Given the description of an element on the screen output the (x, y) to click on. 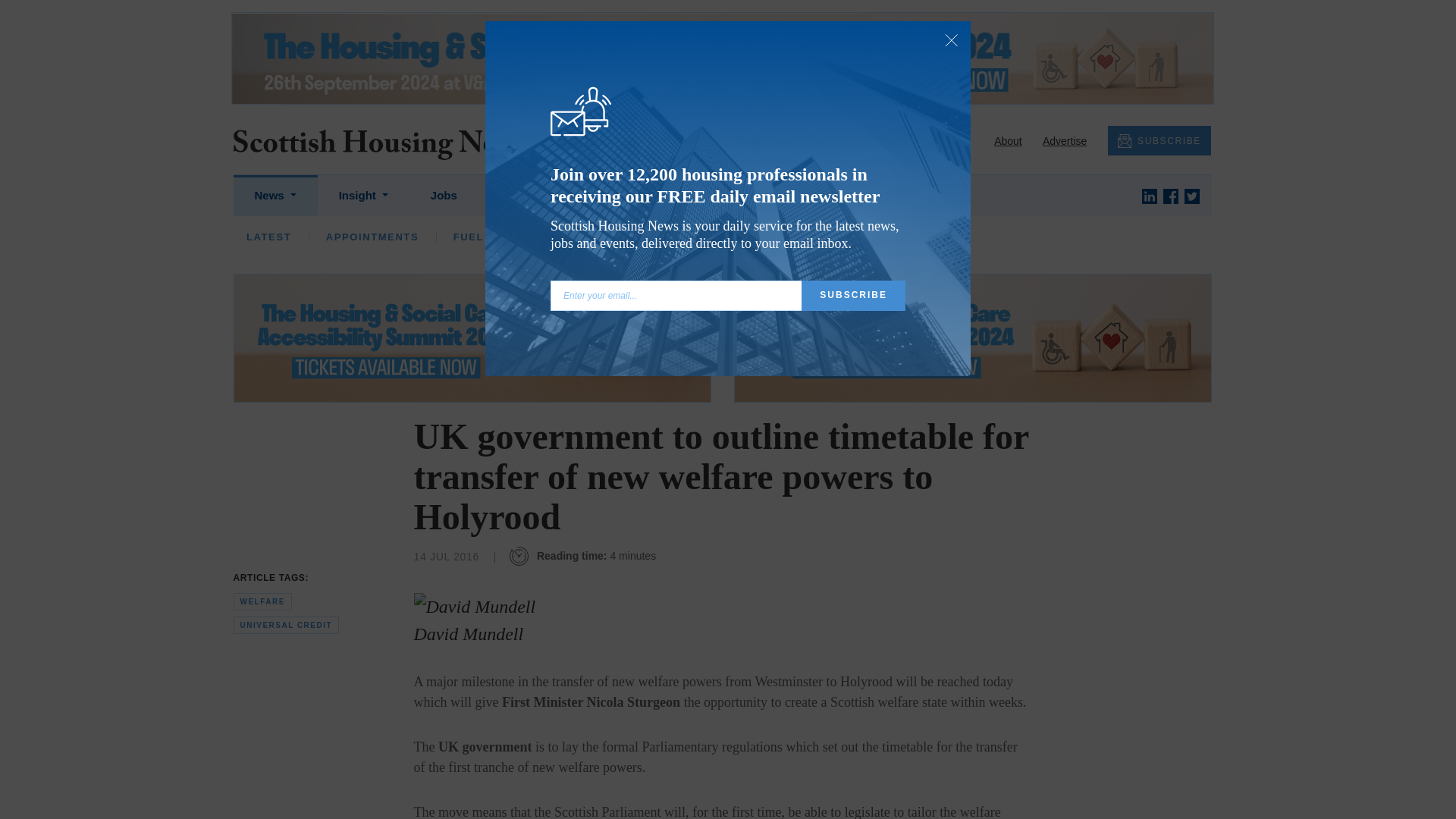
SFHA TECH COLUMN (742, 236)
Insight (363, 196)
Podcast (601, 196)
FUEL POVERTY (497, 236)
SUBSCRIBE (1158, 140)
News (274, 196)
Events (518, 196)
OUR HOUSING HERITAGE (1035, 236)
WELFARE (795, 236)
About (1008, 141)
PRS (721, 236)
LATEST (268, 236)
HOUSING CHAMPIONS (582, 236)
Jobs (444, 196)
APPOINTMENTS (372, 236)
